Given the description of an element on the screen output the (x, y) to click on. 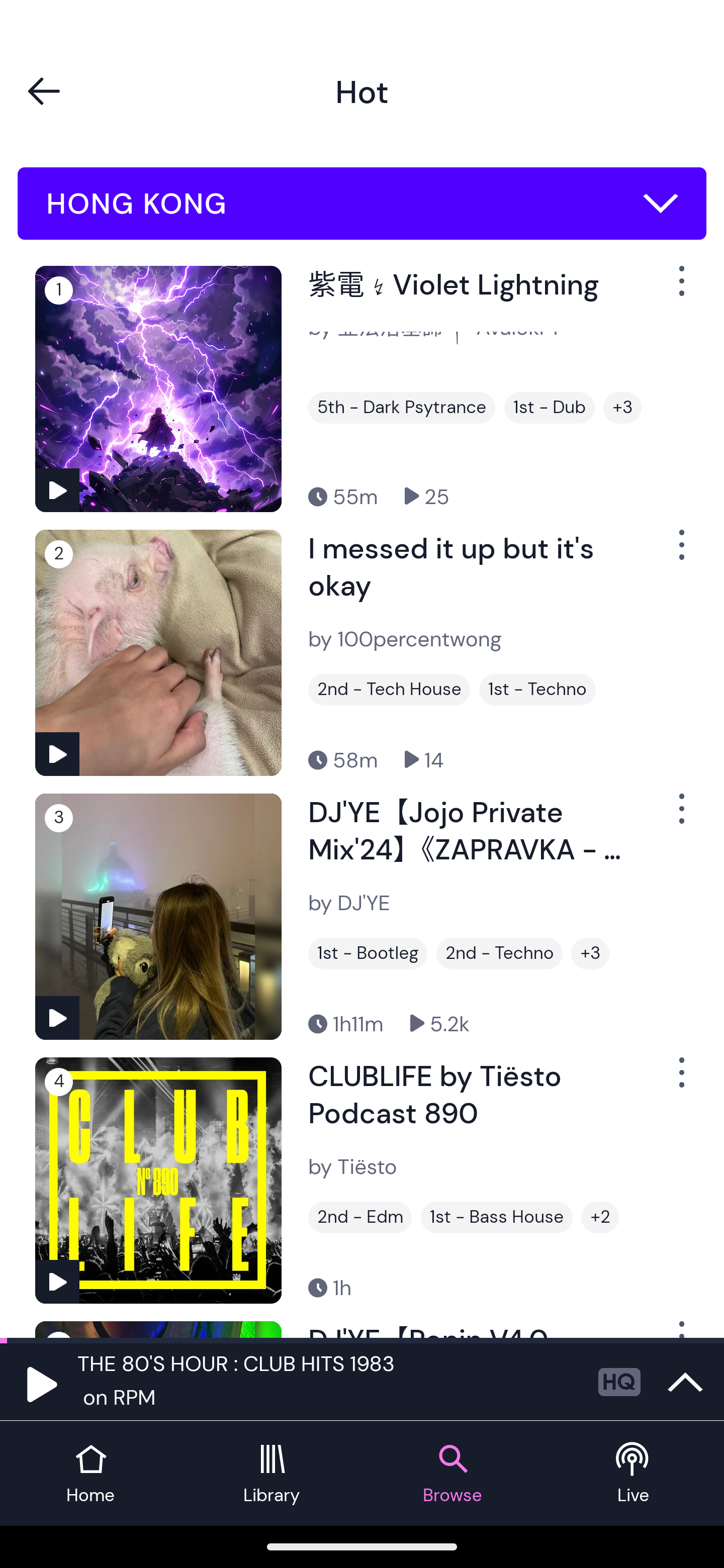
HONG KONG (361, 203)
Show Options Menu Button (679, 289)
5th - Dark Psytrance (401, 407)
1st - Dub (549, 407)
Show Options Menu Button (679, 552)
2nd - Tech House (388, 689)
1st - Techno (537, 689)
Show Options Menu Button (679, 815)
1st - Bootleg (367, 953)
2nd - Techno (499, 953)
Show Options Menu Button (679, 1079)
2nd - Edm (359, 1217)
1st - Bass House (496, 1217)
Home tab Home (90, 1473)
Library tab Library (271, 1473)
Browse tab Browse (452, 1473)
Live tab Live (633, 1473)
